Given the description of an element on the screen output the (x, y) to click on. 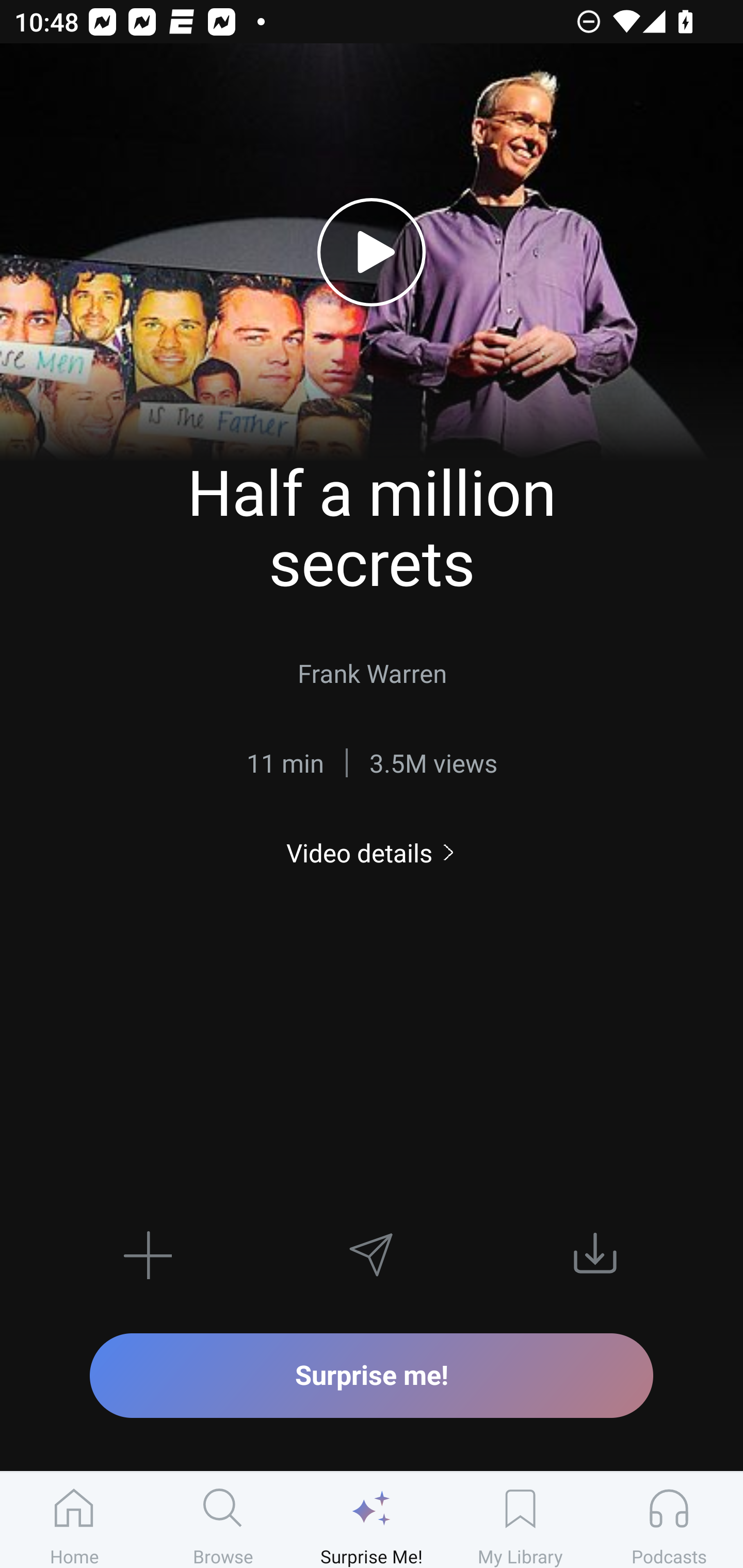
Video details (371, 852)
Surprise me! (371, 1374)
Home (74, 1520)
Browse (222, 1520)
Surprise Me! (371, 1520)
My Library (519, 1520)
Podcasts (668, 1520)
